Given the description of an element on the screen output the (x, y) to click on. 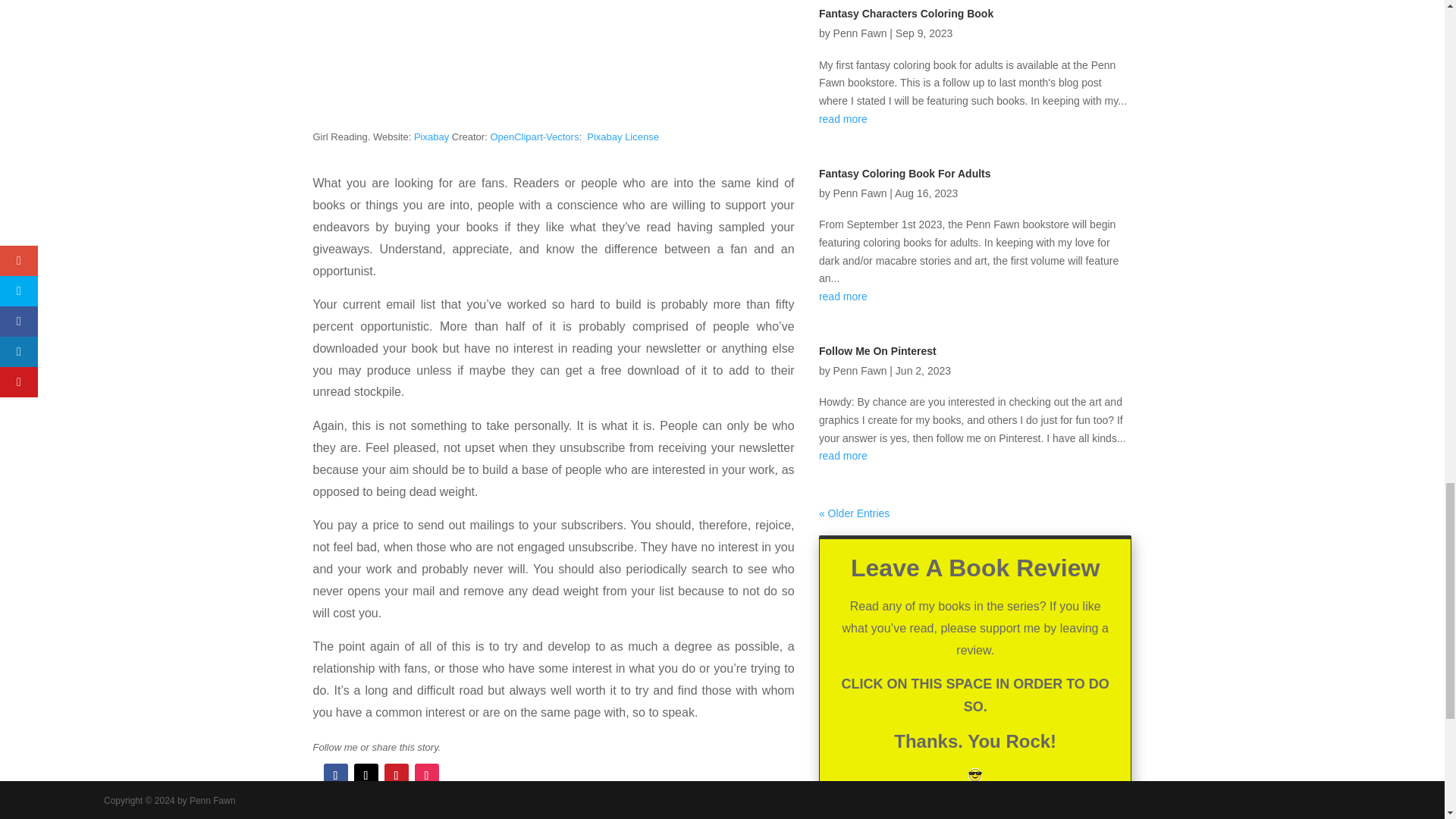
Pixabay (430, 136)
Follow Me On Pinterest (877, 350)
Follow on Instagram (425, 775)
Posts by Penn Fawn (859, 370)
read more (975, 297)
Pixabay License (622, 136)
Posts by Penn Fawn (859, 193)
Penn Fawn (859, 33)
Posts by Penn Fawn (859, 33)
OpenClipart-Vectors (533, 136)
